Given the description of an element on the screen output the (x, y) to click on. 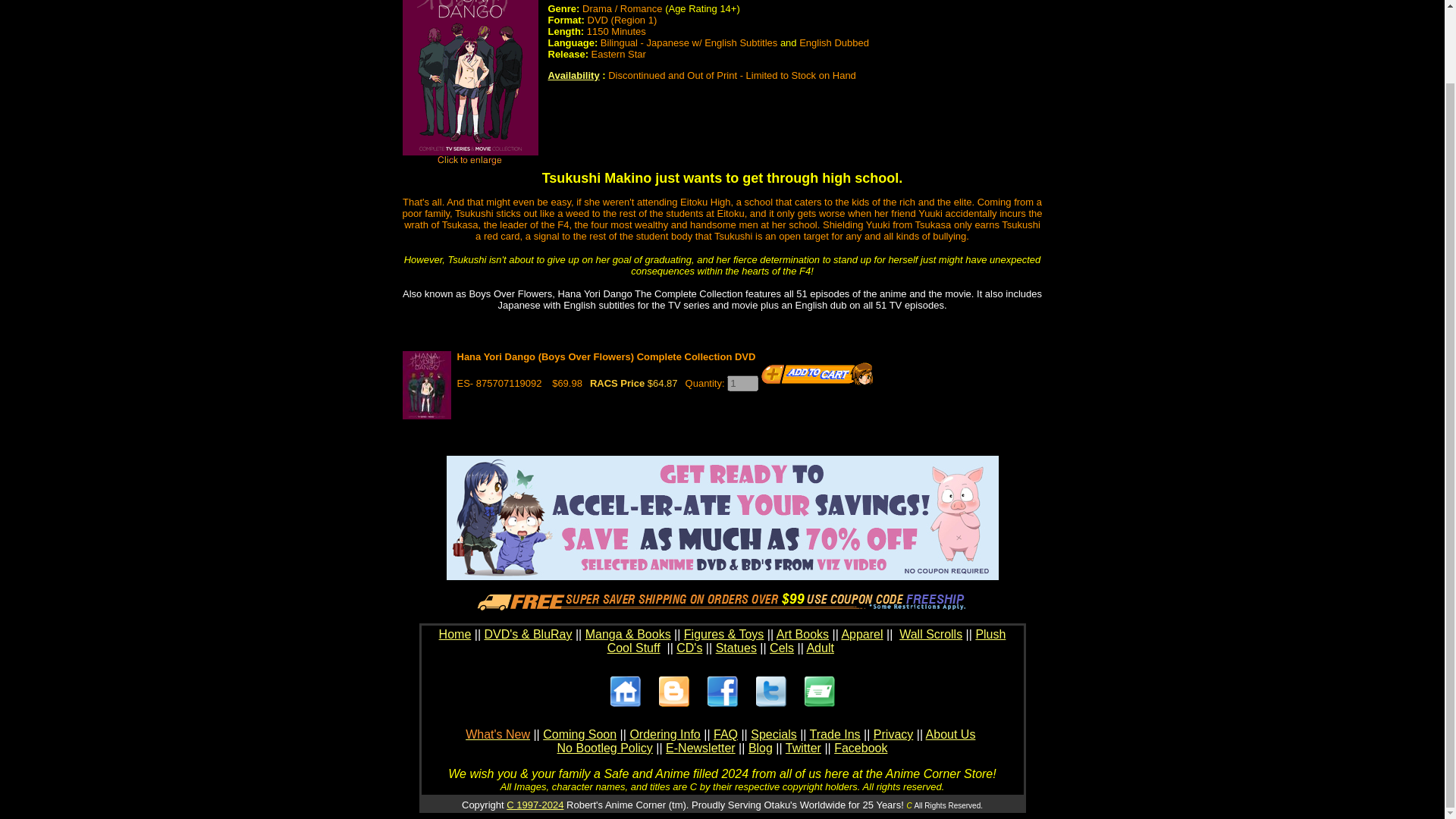
What's New (497, 734)
Home (455, 634)
Facebook (860, 748)
No Bootleg Policy (604, 748)
Apparel (861, 634)
Trade Ins (834, 734)
Statues (736, 647)
Ordering Info (664, 734)
Coming Soon (579, 734)
About Us (950, 734)
Privacy (892, 734)
Blog (760, 748)
Availability (572, 75)
FAQ (725, 734)
Wall Scrolls (930, 634)
